Given the description of an element on the screen output the (x, y) to click on. 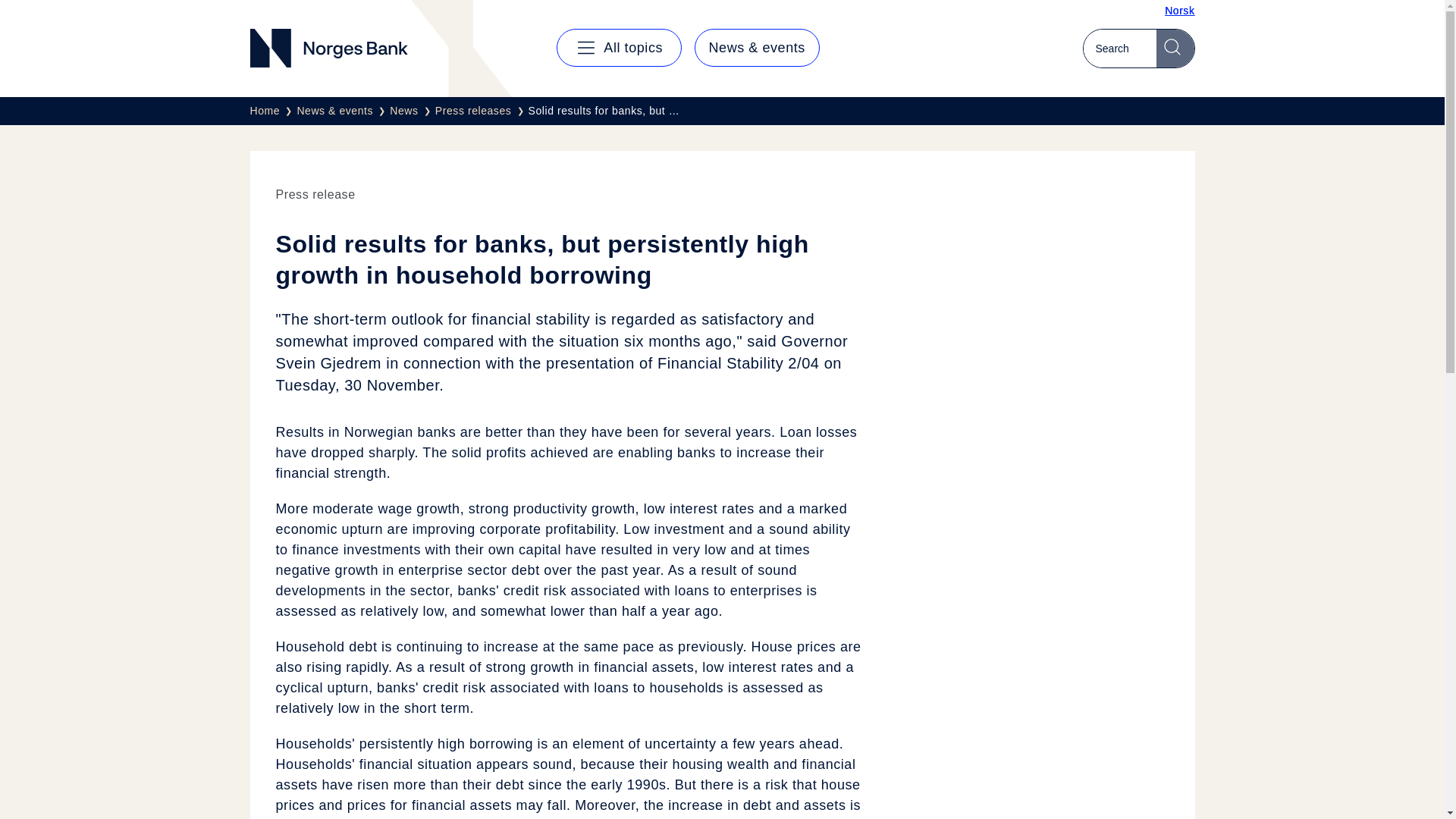
Home (273, 110)
Home (273, 110)
News (412, 110)
Press releases (481, 110)
All topics (618, 47)
Press releases (481, 110)
News (412, 110)
Search (1174, 48)
Norsk (1178, 10)
